Given the description of an element on the screen output the (x, y) to click on. 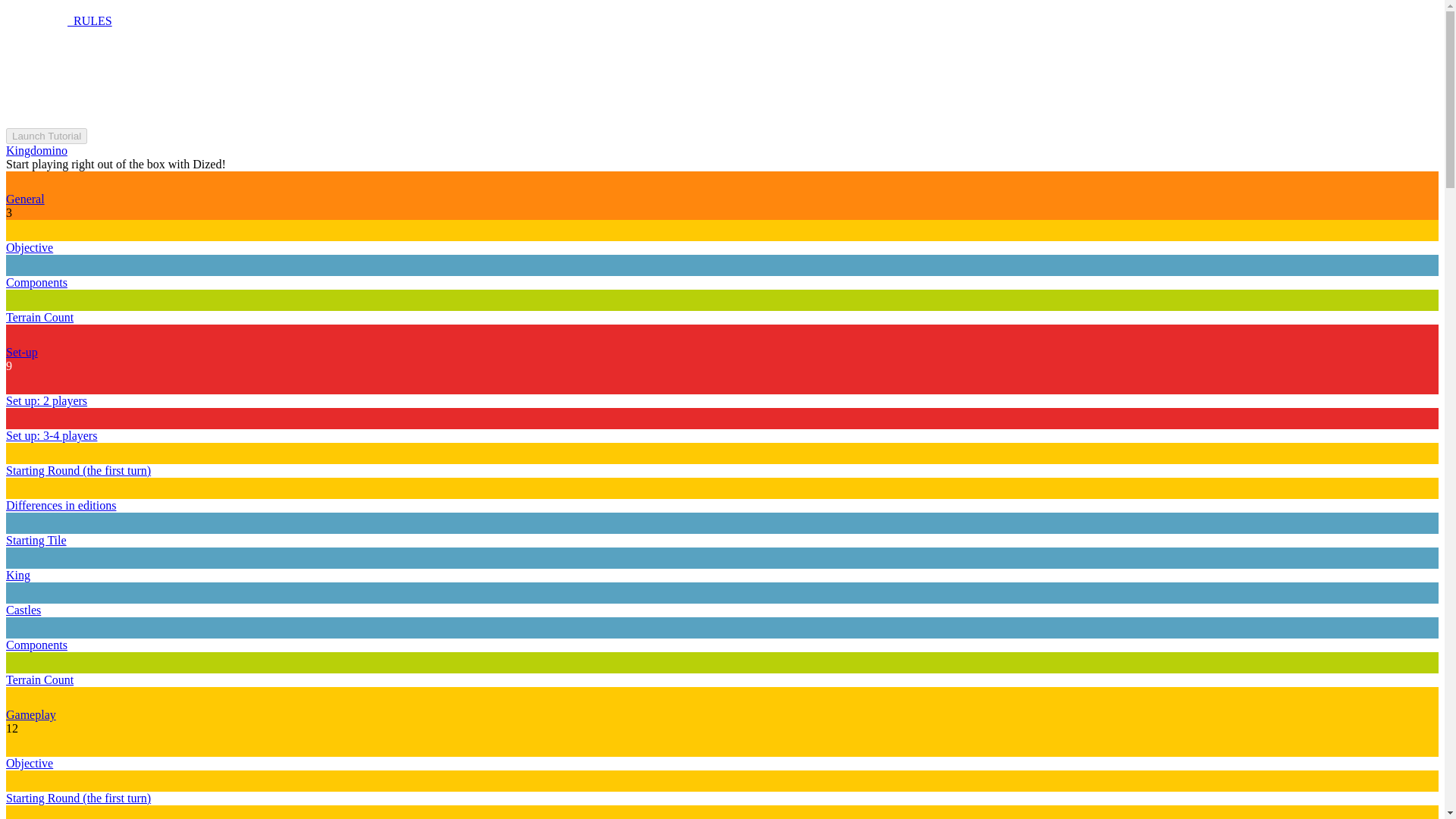
  RULES (58, 20)
Terrain Count (39, 317)
Objective (28, 762)
Components (35, 282)
Terrain Count (39, 679)
Castles (22, 609)
Set up: 2 players (46, 400)
Starting Tile (35, 540)
Launch Tutorial (46, 135)
King (17, 574)
